Given the description of an element on the screen output the (x, y) to click on. 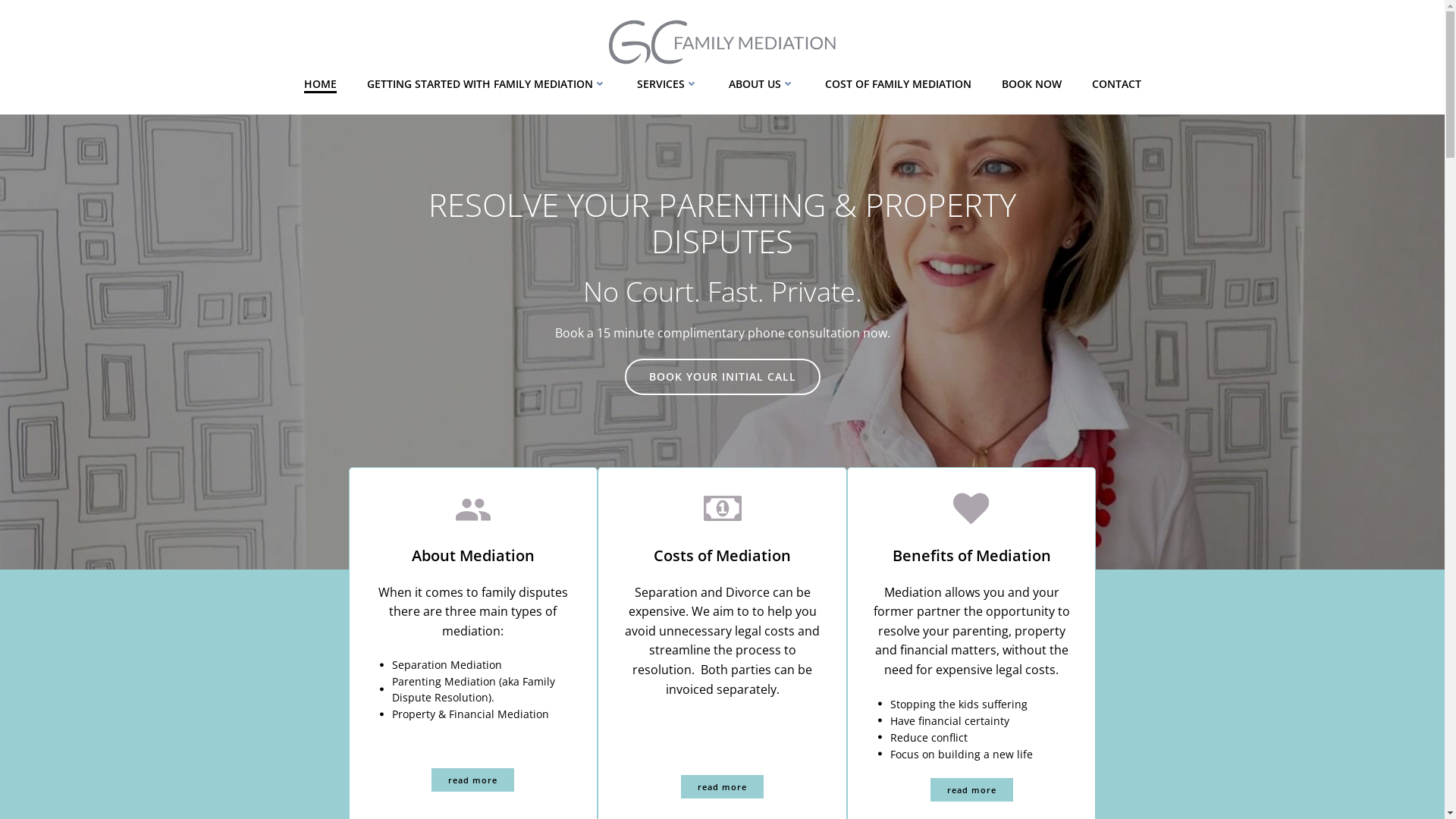
CONTACT Element type: text (1116, 83)
ABOUT US Element type: text (760, 83)
read more Element type: text (971, 789)
COST OF FAMILY MEDIATION Element type: text (898, 83)
BOOK YOUR INITIAL CALL Element type: text (722, 376)
BOOK NOW Element type: text (1030, 83)
read more Element type: text (472, 779)
SERVICES Element type: text (667, 83)
GETTING STARTED WITH FAMILY MEDIATION Element type: text (486, 83)
HOME Element type: text (319, 83)
read more Element type: text (721, 786)
